Given the description of an element on the screen output the (x, y) to click on. 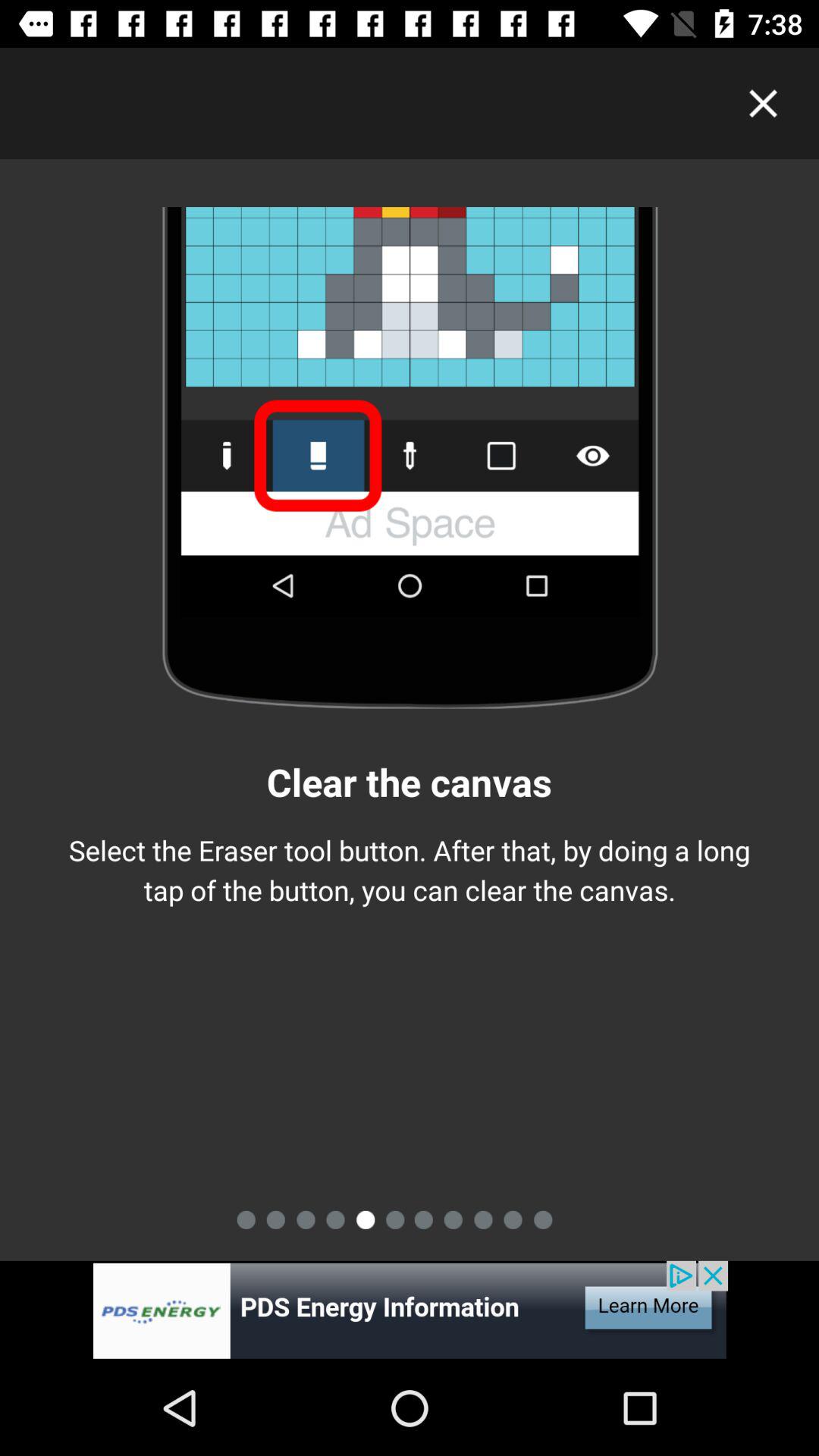
click to the close (763, 103)
